Given the description of an element on the screen output the (x, y) to click on. 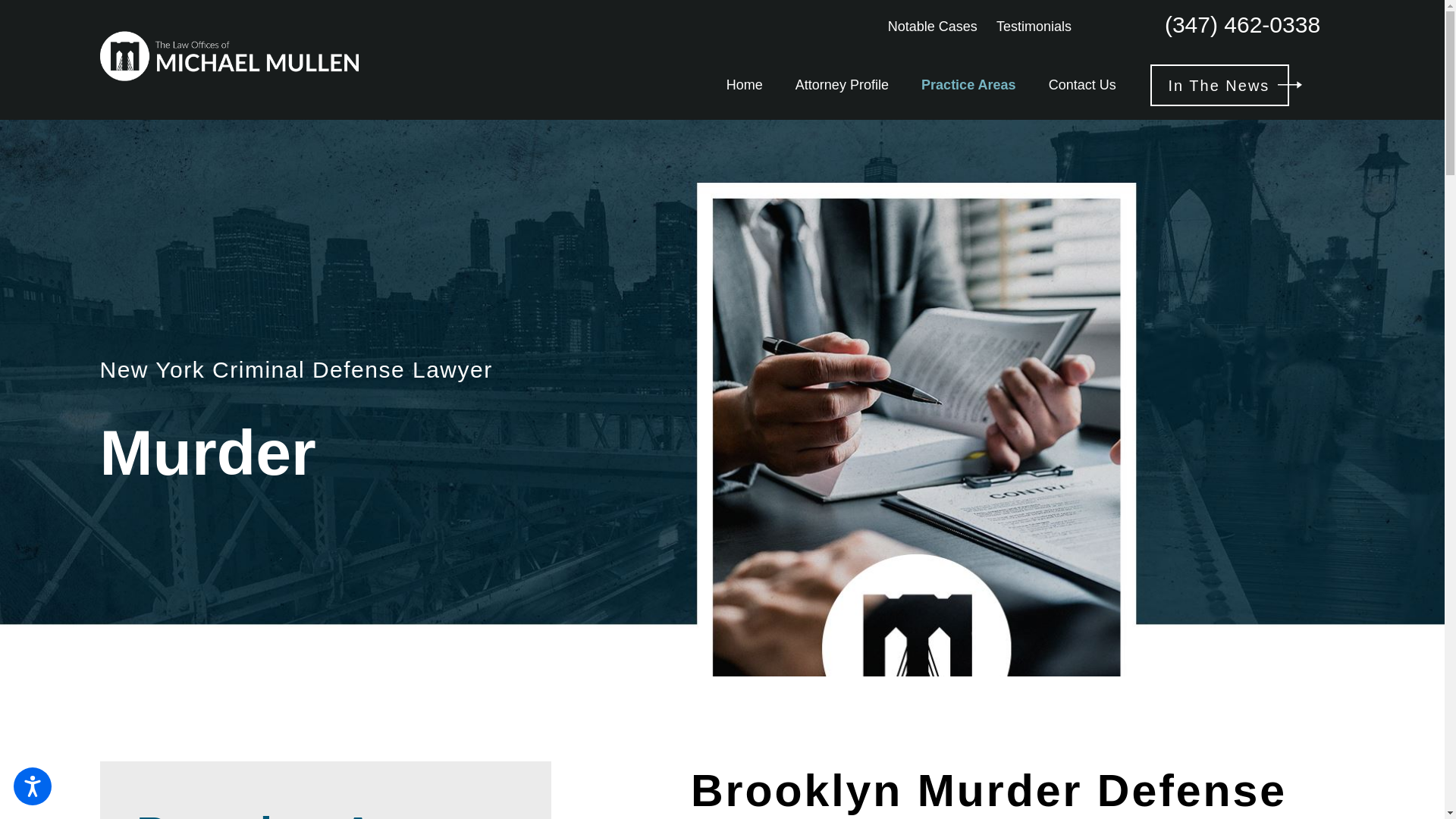
Open the accessibility options menu (31, 786)
Attorney Profile (841, 85)
Testimonials (1033, 26)
Notable Cases (932, 26)
Home (744, 85)
The Law Offices of Michael Mullen (229, 56)
Practice Areas (967, 85)
